Given the description of an element on the screen output the (x, y) to click on. 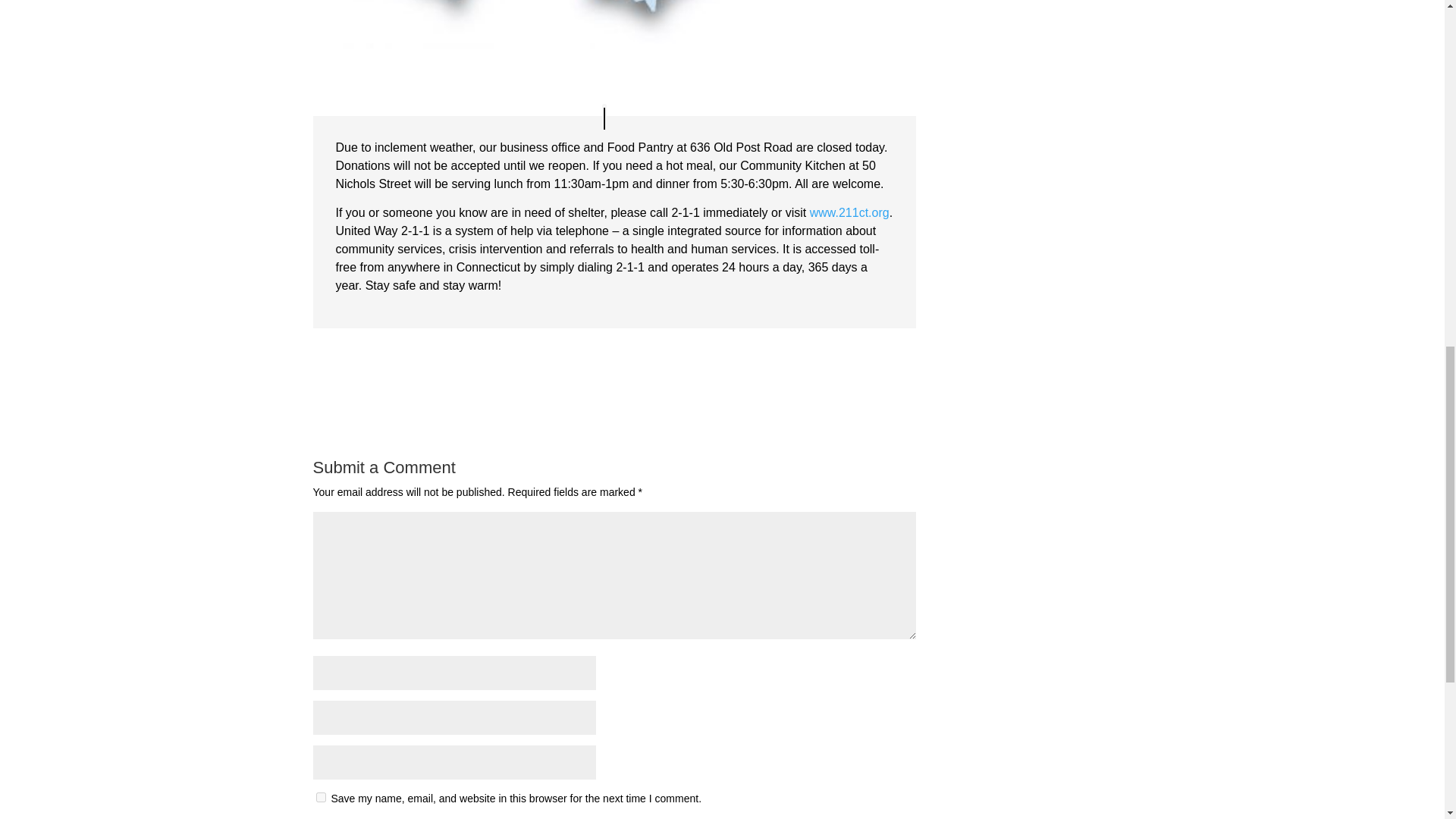
www.211ct.org (849, 212)
yes (319, 797)
